Given the description of an element on the screen output the (x, y) to click on. 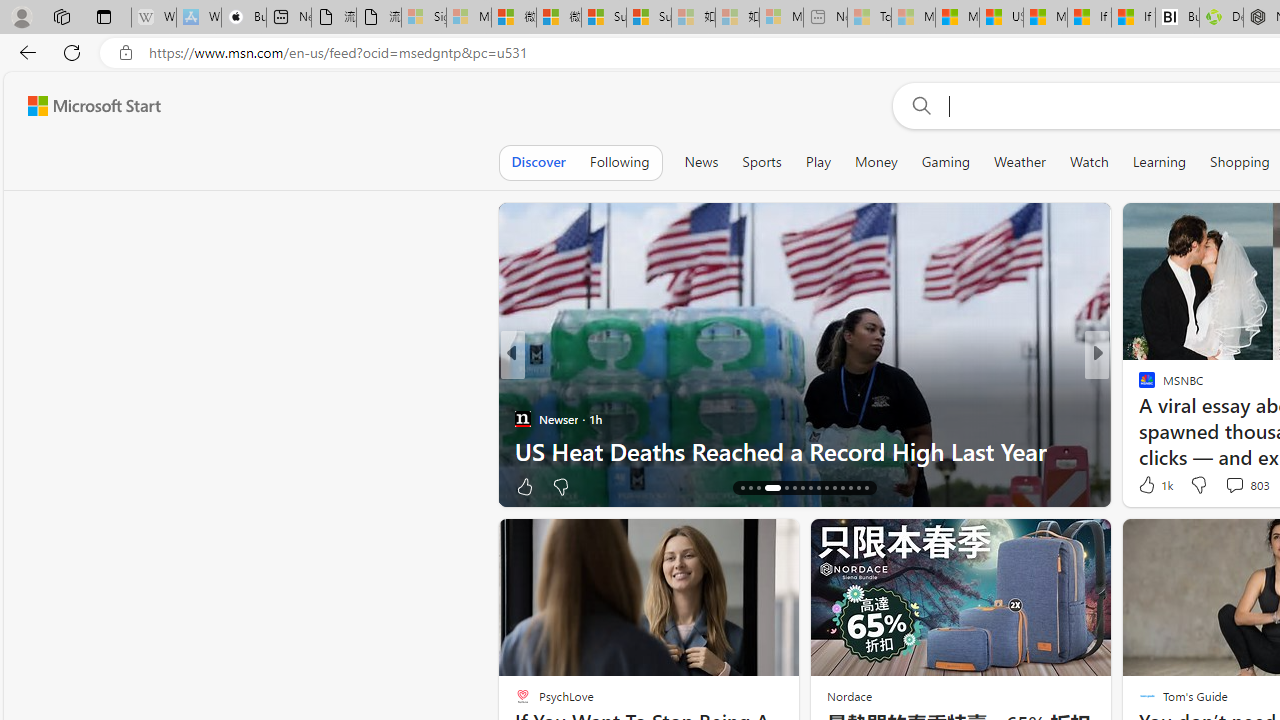
1k Like (1154, 484)
94 Like (1149, 486)
AutomationID: tab-17 (750, 487)
